Given the description of an element on the screen output the (x, y) to click on. 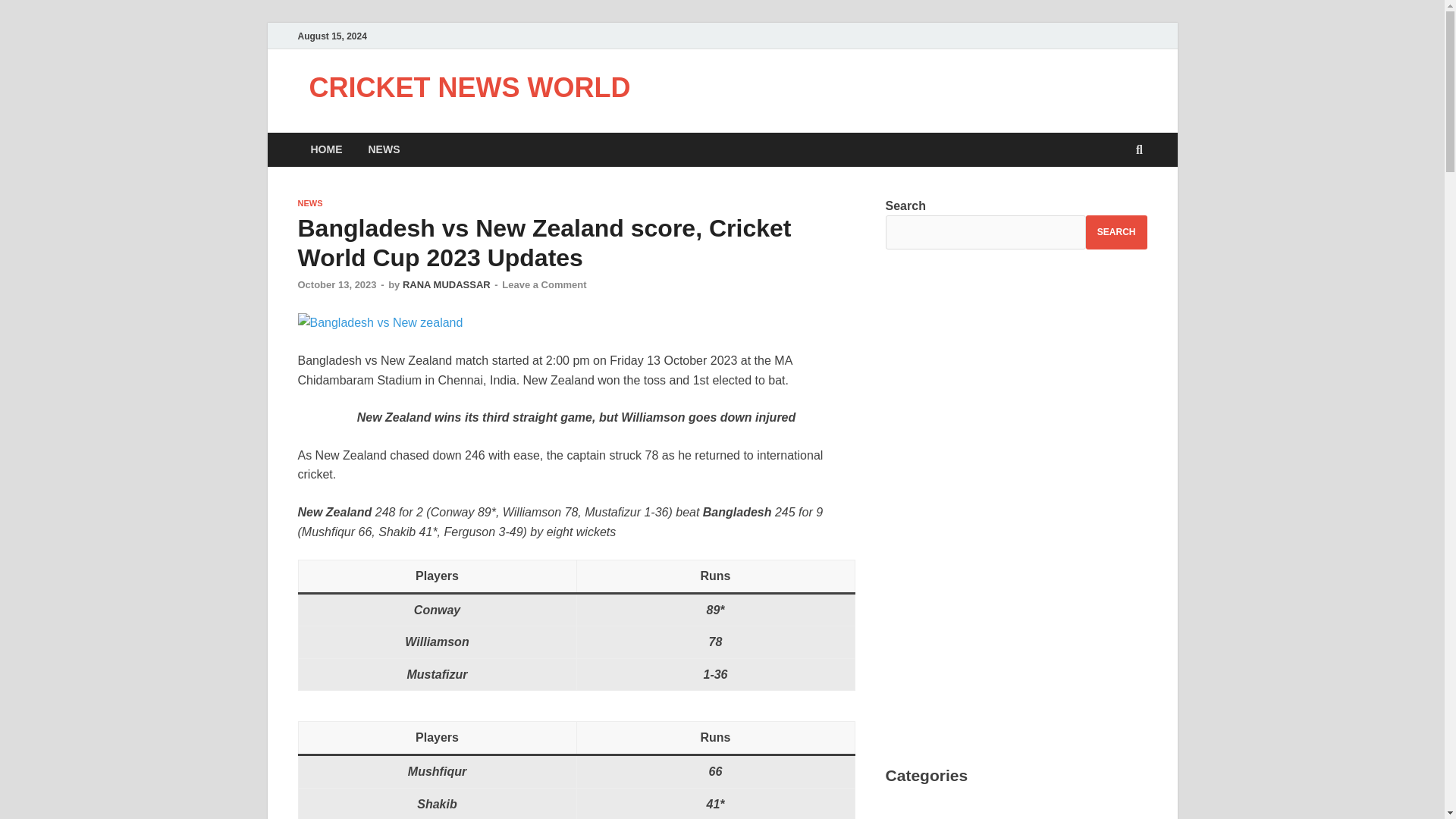
October 13, 2023 (336, 284)
SEARCH (1116, 232)
RANA MUDASSAR (446, 284)
HOME (326, 149)
NEWS (383, 149)
CRICKET NEWS WORLD (469, 87)
Leave a Comment (544, 284)
NEWS (309, 203)
